Given the description of an element on the screen output the (x, y) to click on. 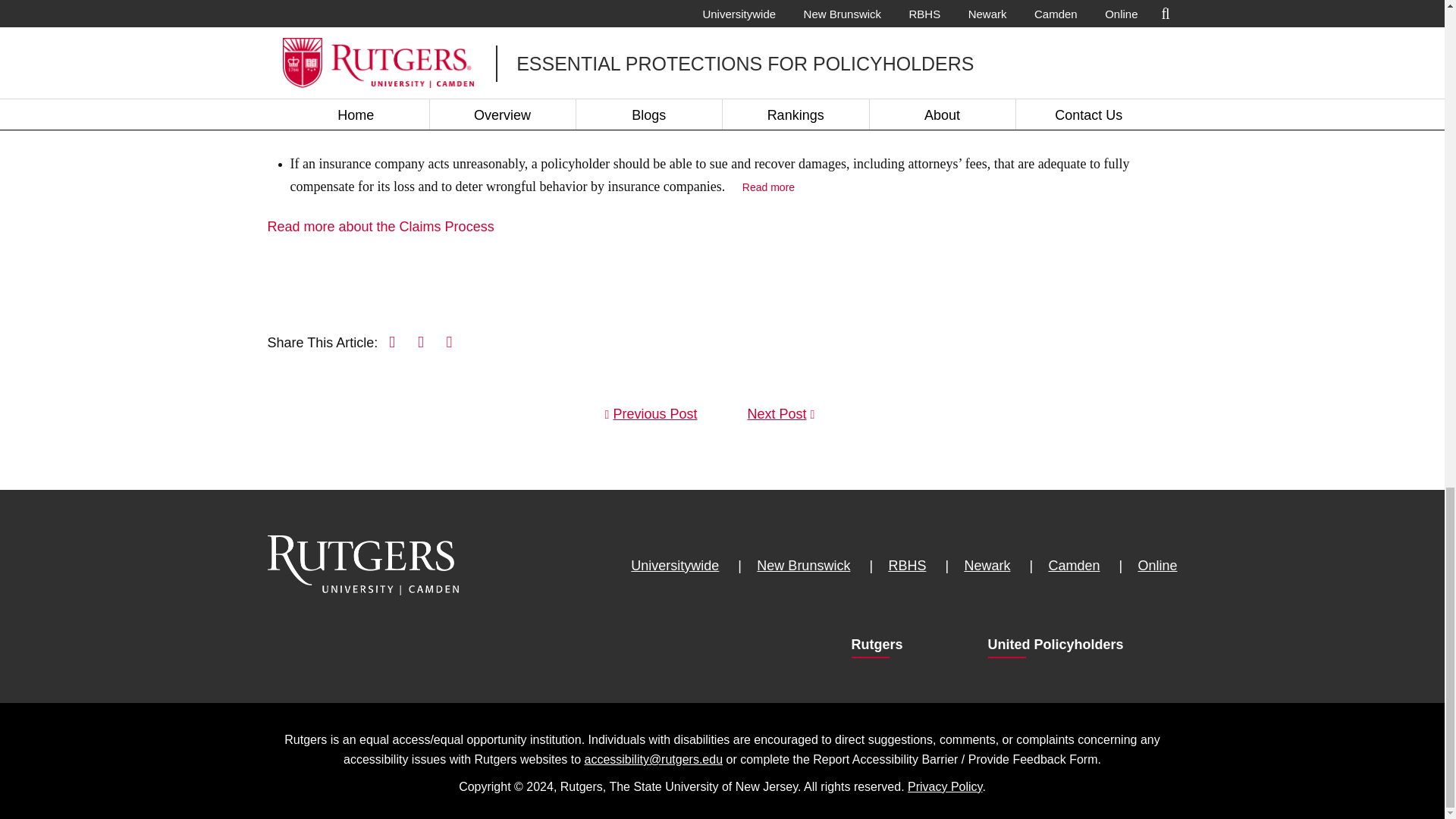
Read more (790, 62)
Read more about the Claims Process (379, 226)
Universitywide (674, 566)
Previous Post (654, 413)
Camden (1073, 566)
Read more (768, 186)
New Brunswick (803, 566)
RBHS (907, 566)
Newark (986, 566)
Next Post (777, 413)
